Given the description of an element on the screen output the (x, y) to click on. 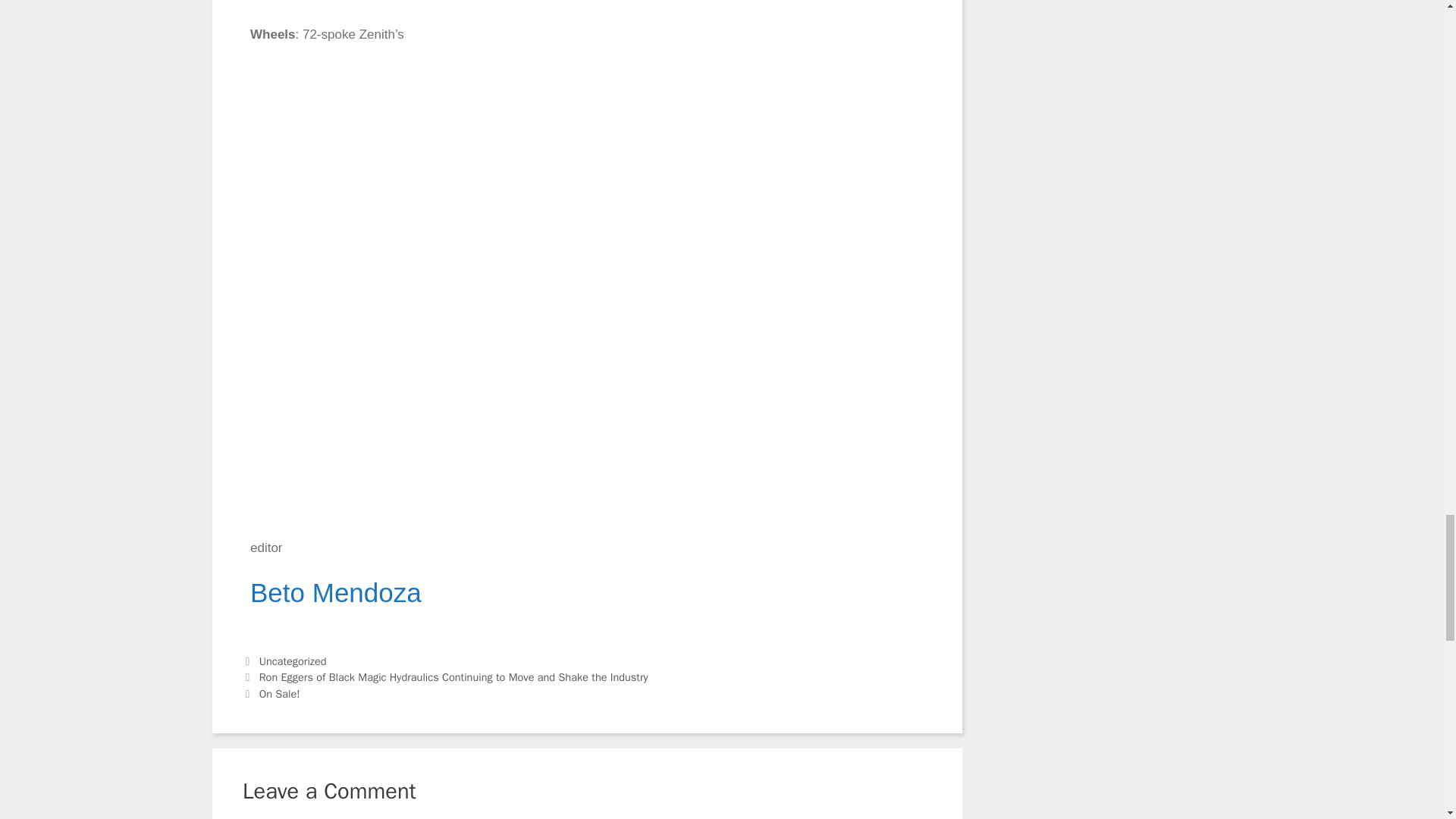
Previous (445, 676)
Next (271, 694)
